Given the description of an element on the screen output the (x, y) to click on. 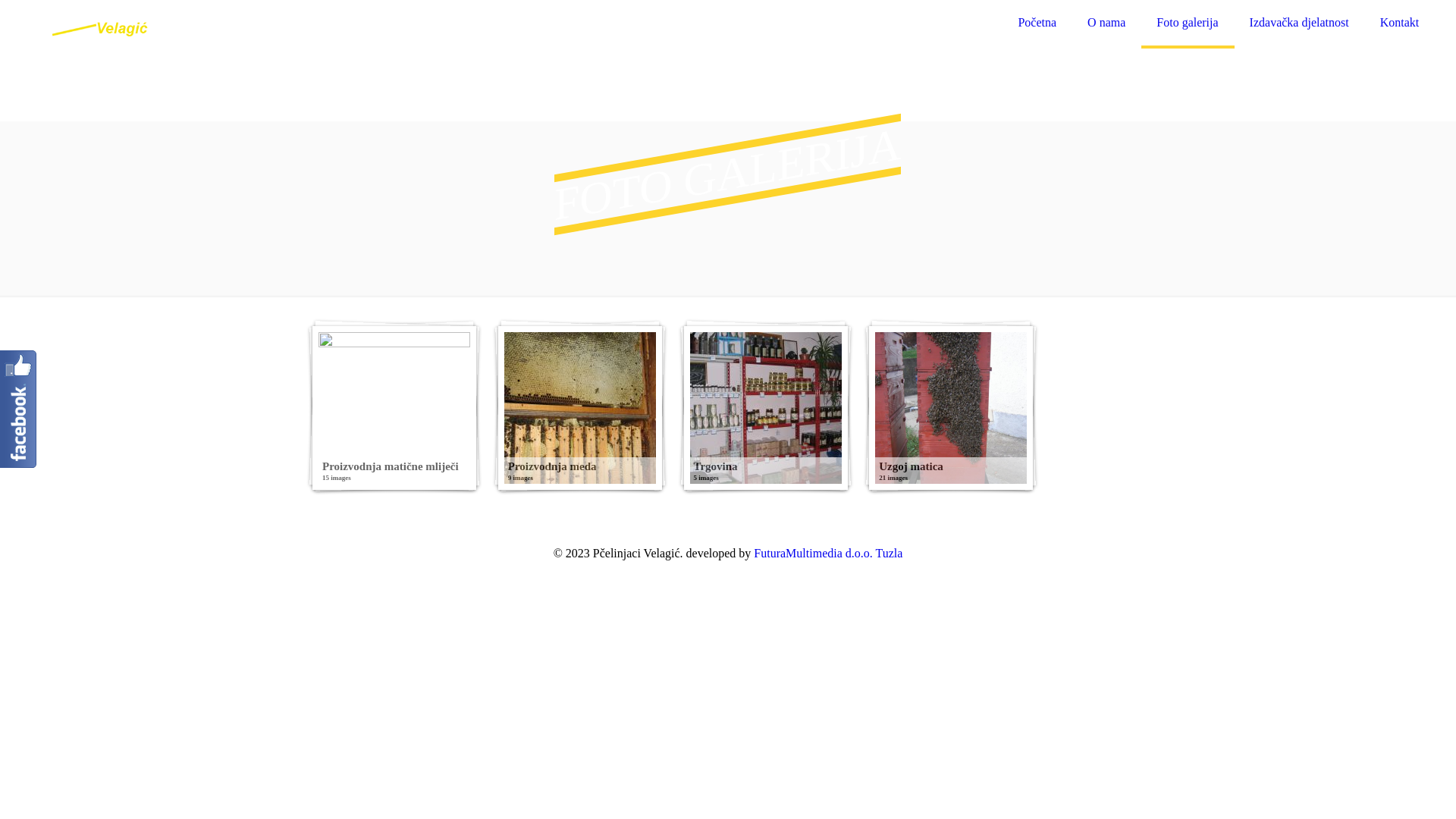
Trgovina
5 images Element type: text (765, 407)
Uzgoj matica
21 images Element type: text (950, 407)
Kontakt Element type: text (1399, 22)
Proizvodnja meda
9 images Element type: text (579, 407)
O nama Element type: text (1106, 22)
FuturaMultimedia d.o.o. Tuzla Element type: text (827, 552)
Foto galerija Element type: text (1187, 22)
